Given the description of an element on the screen output the (x, y) to click on. 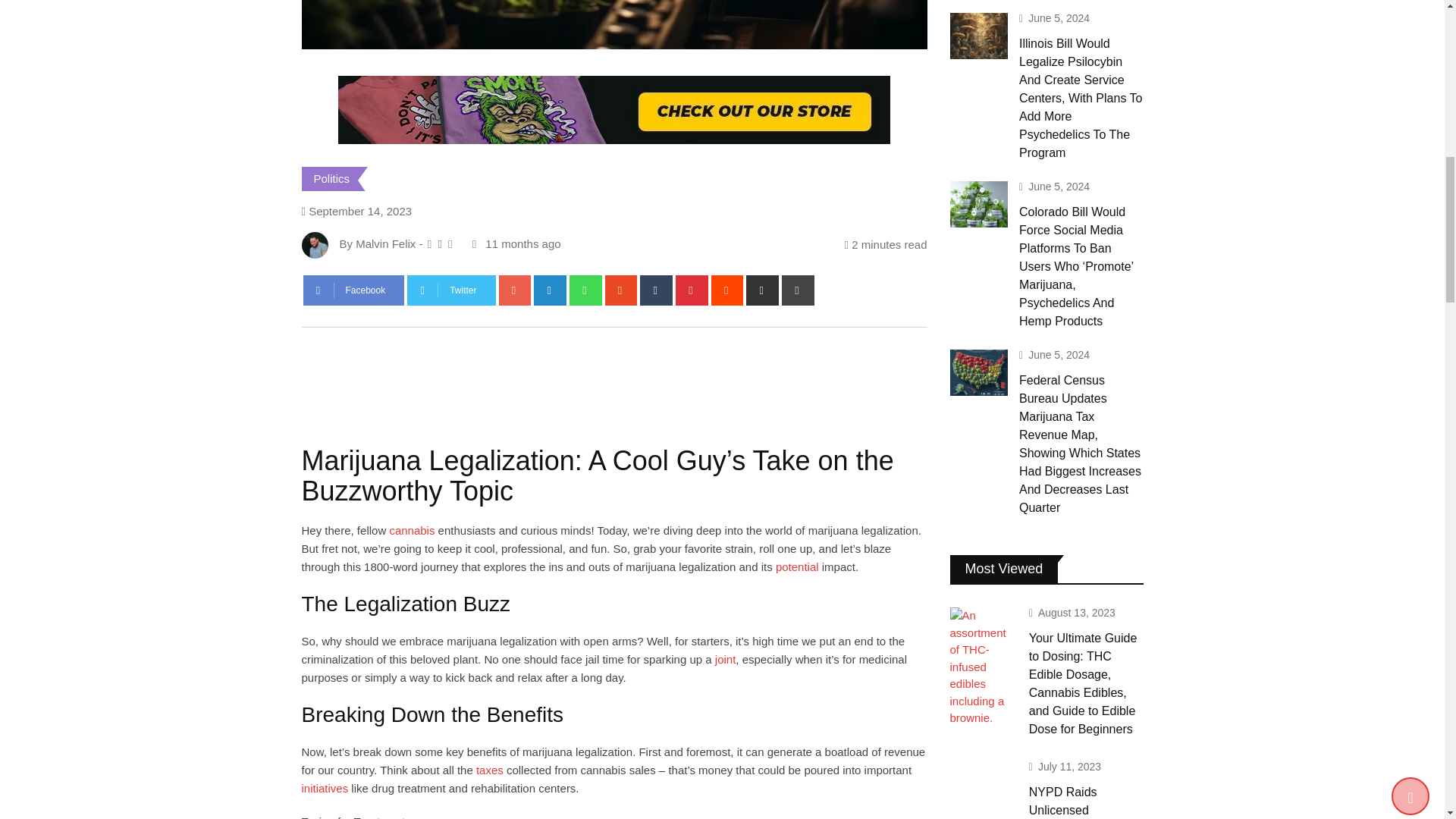
Posts tagged with Joint (725, 658)
Posts tagged with Initiatives (325, 788)
Posts tagged with Potential (797, 566)
cannabis (410, 530)
Posts tagged with Taxes (489, 769)
